Given the description of an element on the screen output the (x, y) to click on. 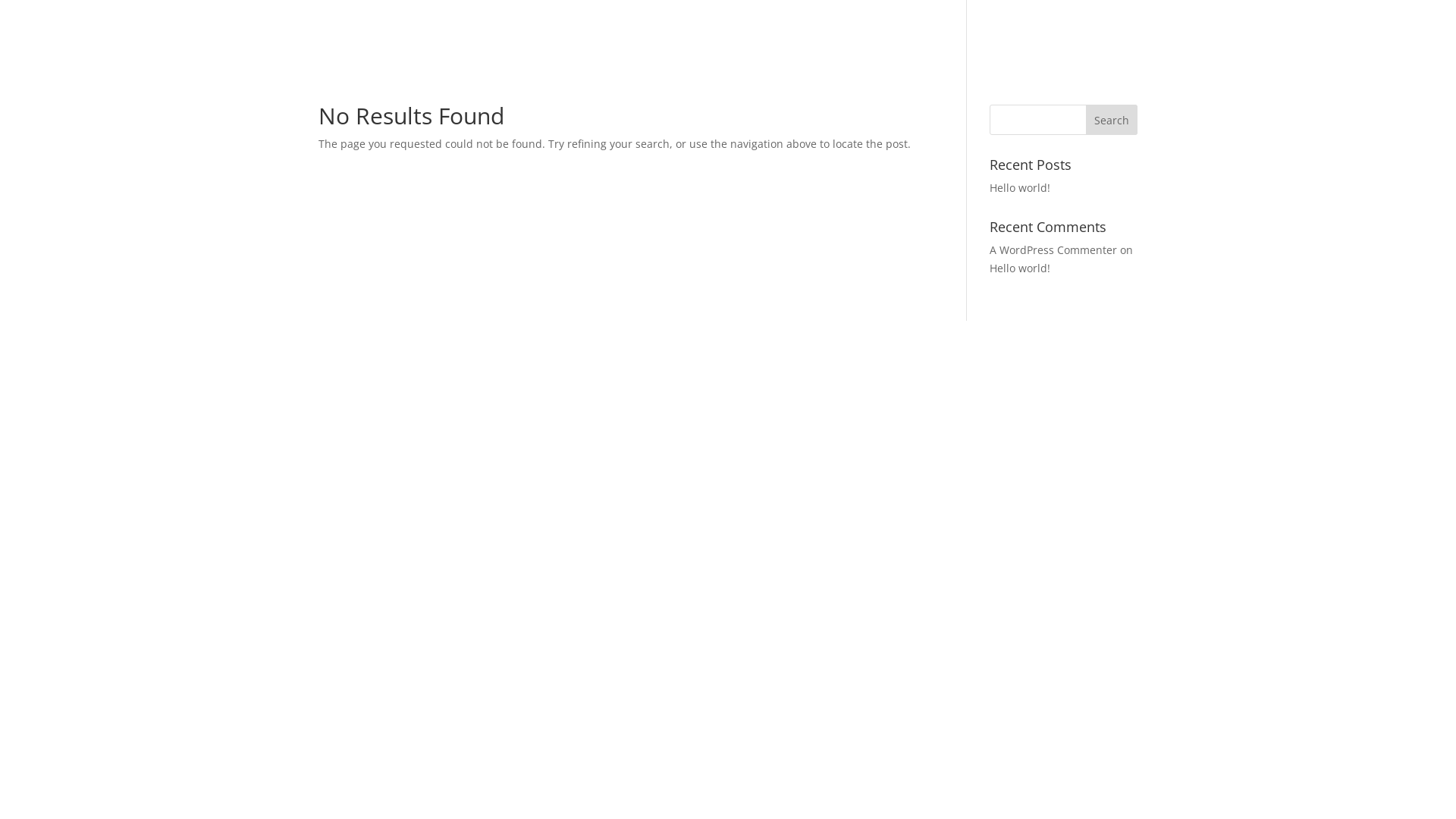
Hello world! Element type: text (1019, 267)
Search Element type: text (1111, 119)
171 Albany Highway, Victoria Park Element type: text (1207, 42)
Hello world! Element type: text (1019, 187)
(08) 6180 7810 Element type: text (1385, 42)
A WordPress Commenter Element type: text (1053, 249)
